Given the description of an element on the screen output the (x, y) to click on. 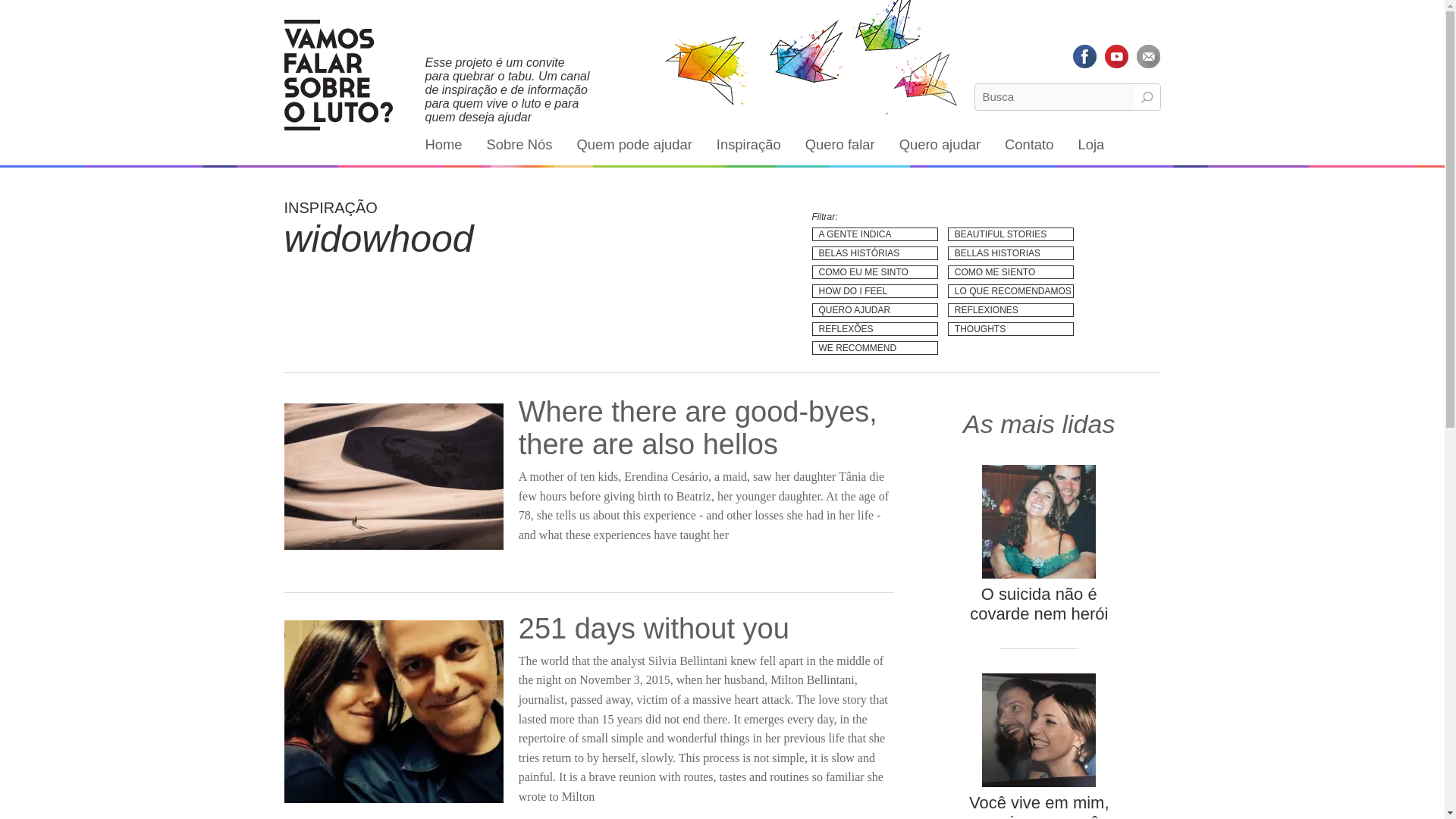
Pesquisar (1147, 96)
LO QUE RECOMENDAMOS (1010, 291)
Quem pode ajudar (633, 144)
Home (443, 144)
Quero ajudar (939, 144)
WE RECOMMEND (873, 347)
Pesquisar (1147, 96)
THOUGHTS (1010, 328)
Loja (1090, 144)
COMO EU ME SINTO (873, 272)
QUERO AJUDAR (873, 309)
REFLEXIONES (1010, 309)
Vamos Falar Sobre o Luto (337, 74)
YouTube (1115, 55)
Pesquisar (1147, 96)
